Given the description of an element on the screen output the (x, y) to click on. 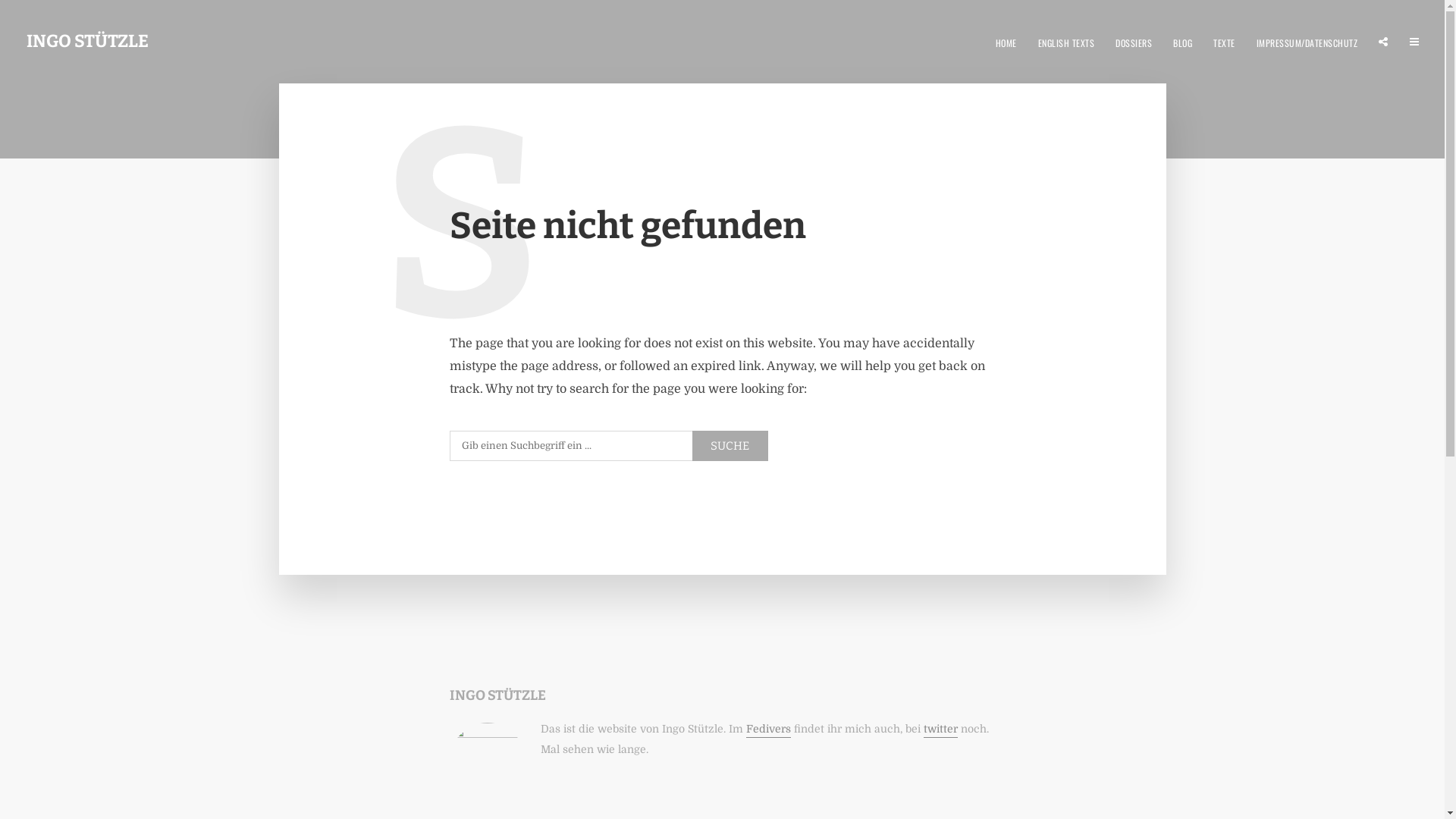
TEXTE Element type: text (1223, 40)
IMPRESSUM/DATENSCHUTZ Element type: text (1306, 40)
SUCHE Element type: text (729, 445)
BLOG Element type: text (1182, 40)
DOSSIERS Element type: text (1133, 40)
ENGLISH TEXTS Element type: text (1065, 40)
HOME Element type: text (1005, 40)
twitter Element type: text (940, 729)
Fedivers Element type: text (768, 729)
